Given the description of an element on the screen output the (x, y) to click on. 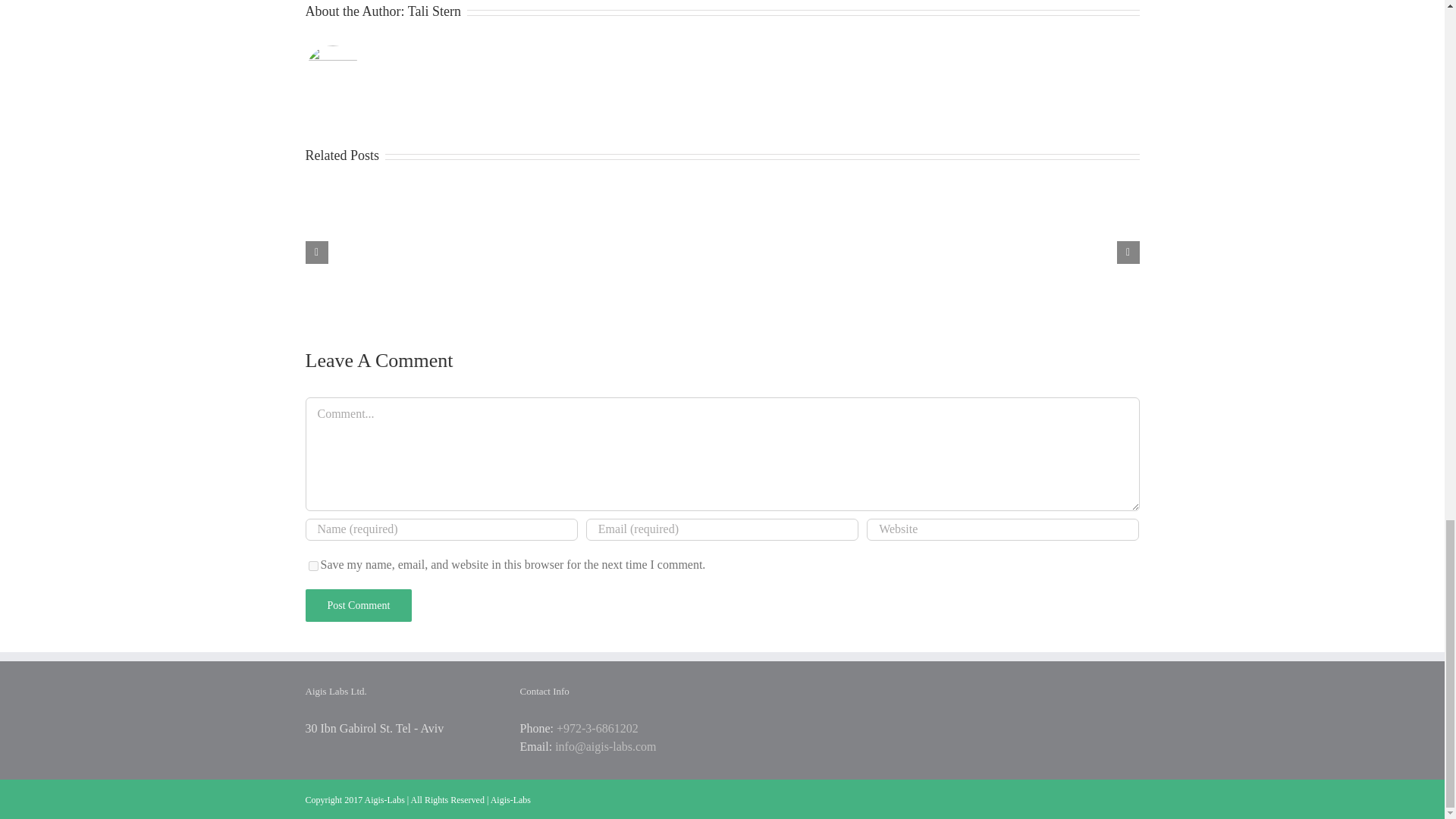
Post Comment (358, 604)
Tali Stern (434, 11)
Posts by Tali Stern (434, 11)
yes (312, 565)
Post Comment (358, 604)
Aigis-Labs (510, 799)
